Given the description of an element on the screen output the (x, y) to click on. 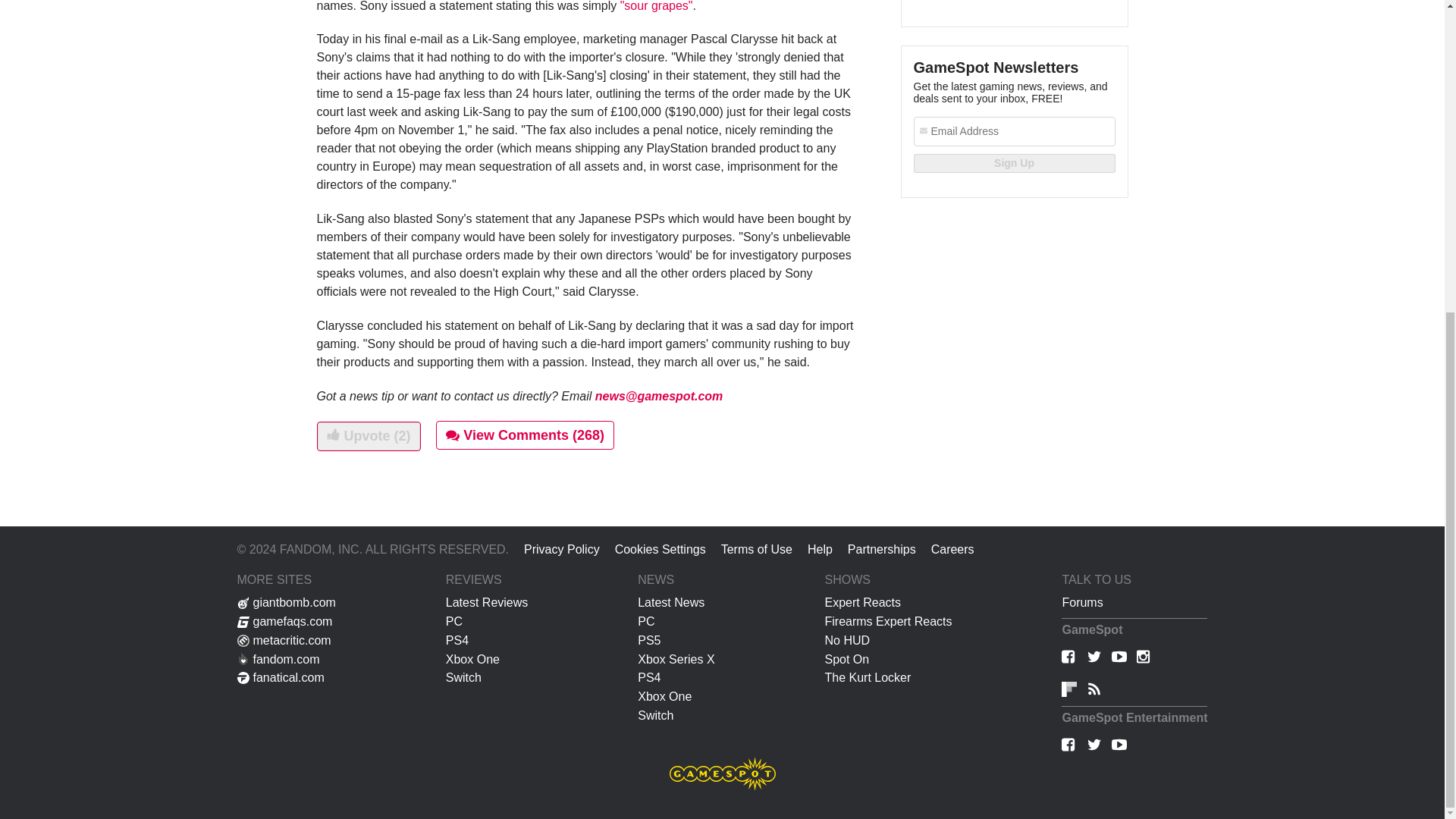
RSS Feeds (1094, 690)
